Given the description of an element on the screen output the (x, y) to click on. 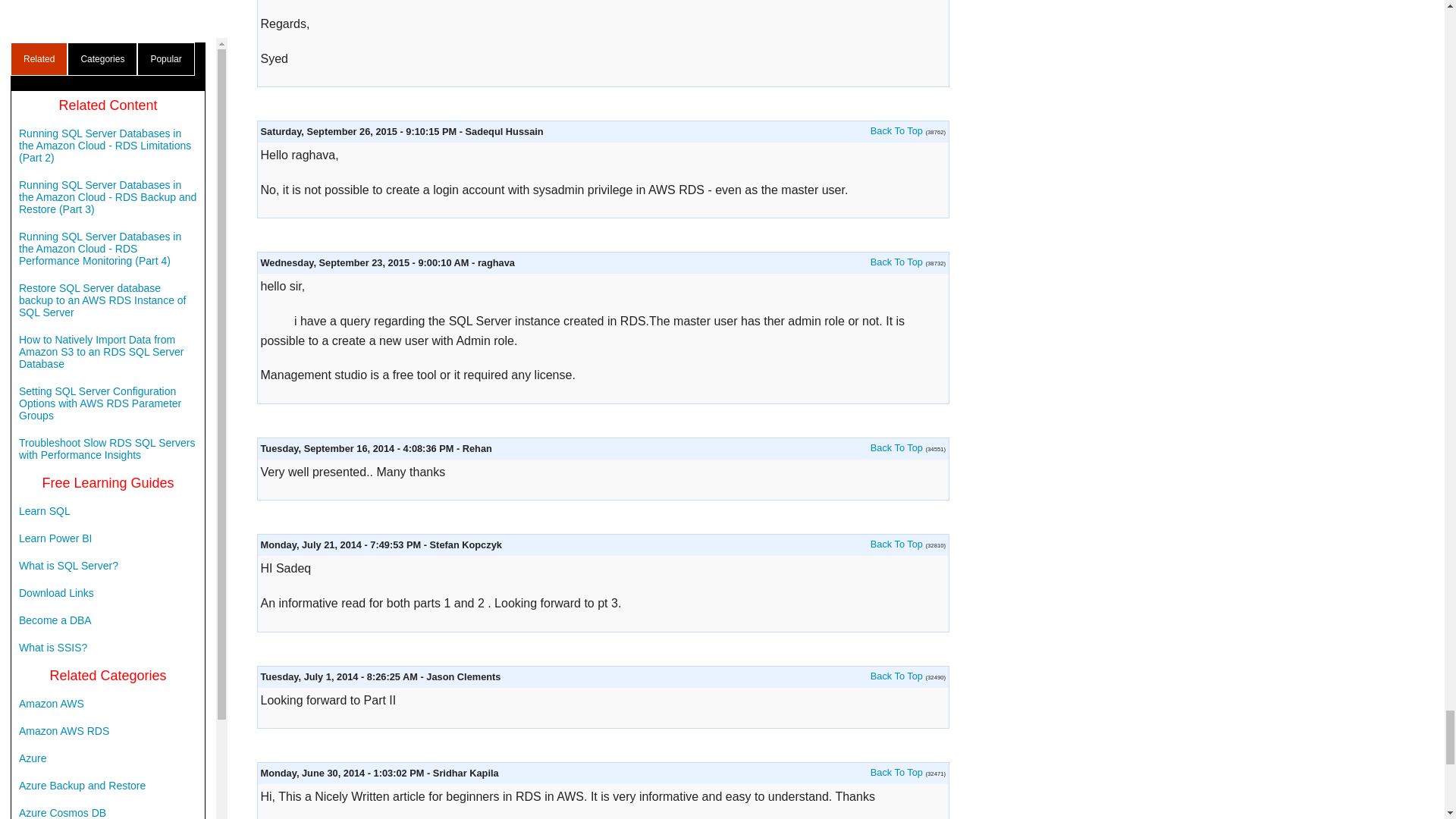
read the tip (896, 261)
read the tip (896, 447)
read the tip (896, 543)
read the tip (896, 772)
read the tip (896, 130)
read the tip (896, 675)
